Given the description of an element on the screen output the (x, y) to click on. 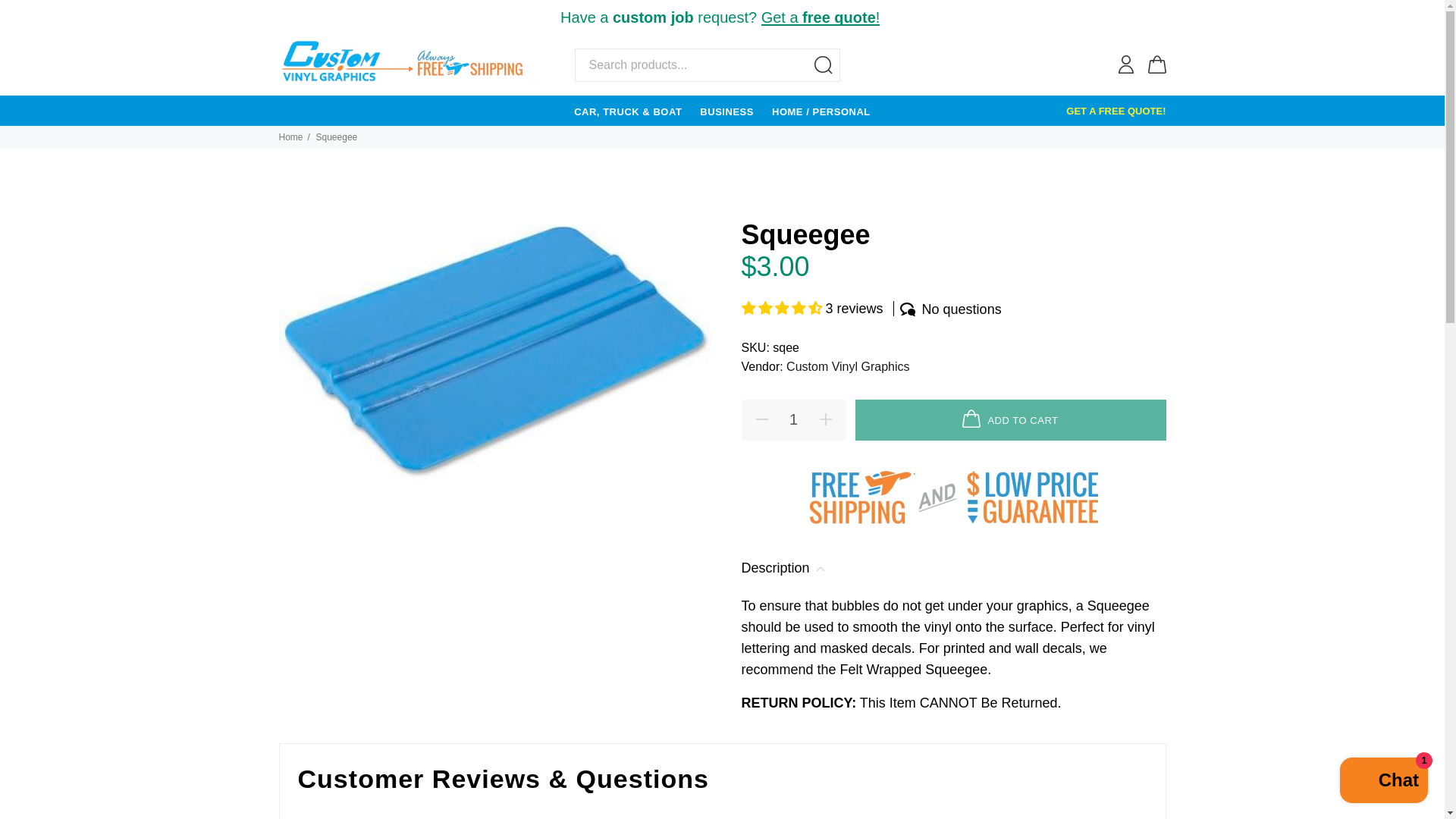
1 (793, 419)
